Given the description of an element on the screen output the (x, y) to click on. 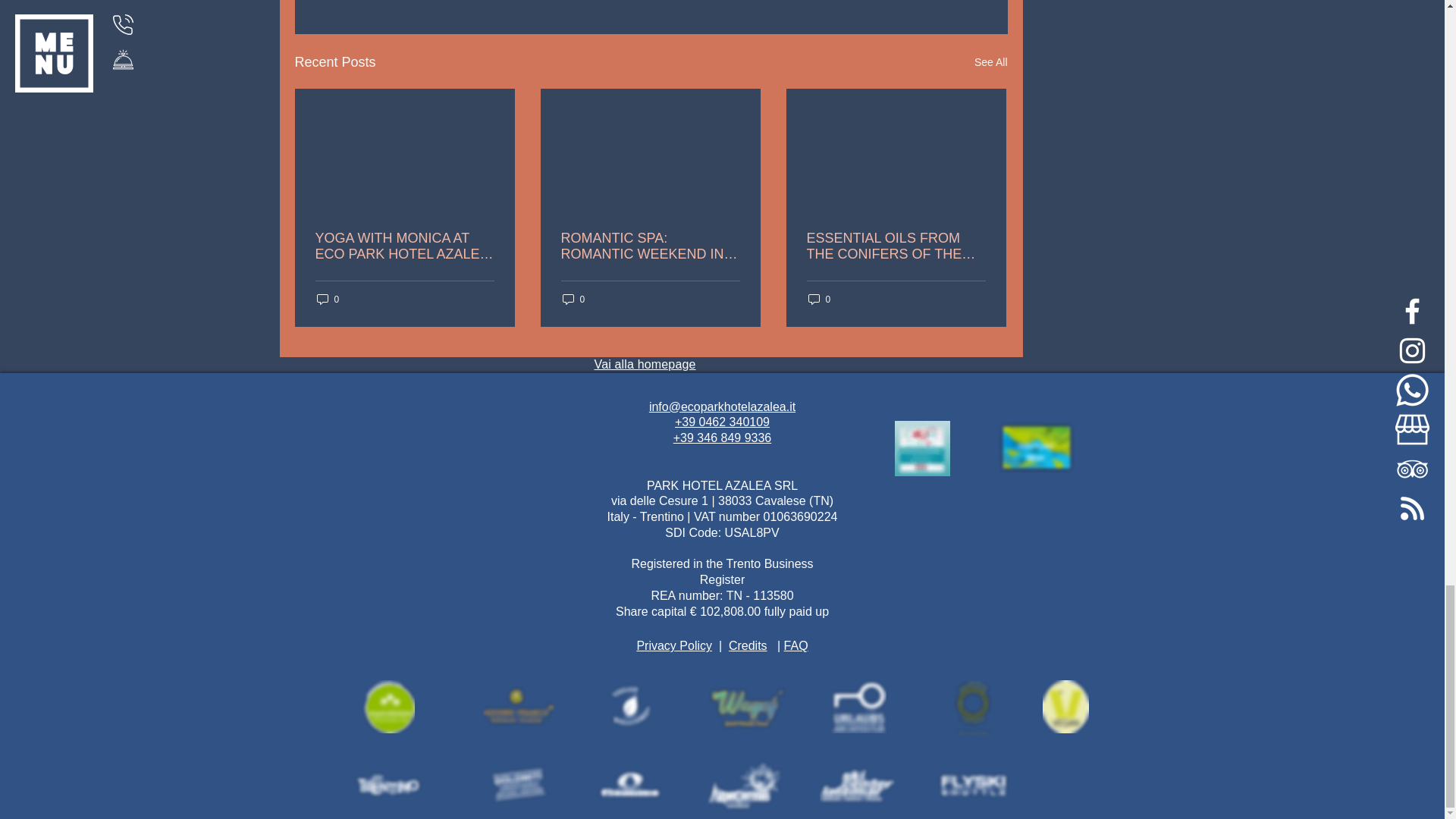
Credits (748, 645)
0 (327, 298)
Vai alla homepage (644, 364)
FAQ (796, 645)
See All (990, 62)
0 (573, 298)
YOGA WITH MONICA AT ECO PARK HOTEL AZALEA IN VAL DI FIEMME (405, 246)
0 (819, 298)
Privacy Policy (673, 645)
